Given the description of an element on the screen output the (x, y) to click on. 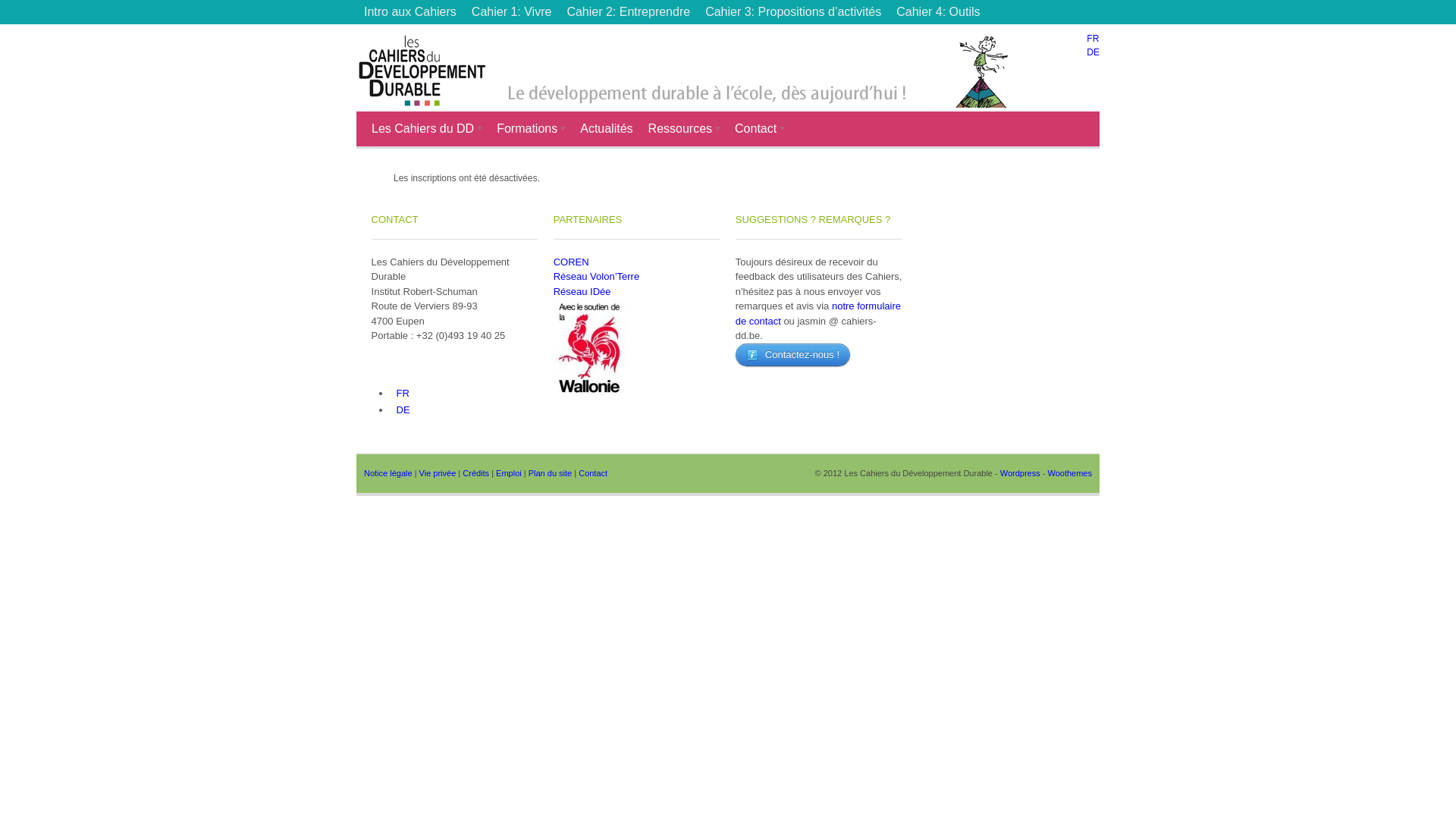
Emploi Element type: text (508, 472)
DE Element type: text (1092, 52)
Contact Element type: text (592, 472)
FR Element type: text (400, 392)
DE Element type: text (401, 408)
Contactez-nous ! Element type: text (792, 353)
Cahier 4: Outils Element type: text (937, 12)
Cahier 2: Entreprendre Element type: text (627, 12)
Intro aux Cahiers Element type: text (410, 12)
Cahier 1: Vivre Element type: text (511, 12)
Wordpress Element type: text (1020, 472)
FR Element type: text (1092, 38)
COREN Element type: text (571, 261)
notre formulaire de contact Element type: text (817, 313)
Woothemes Element type: text (1070, 472)
Plan du site Element type: text (549, 472)
